Given the description of an element on the screen output the (x, y) to click on. 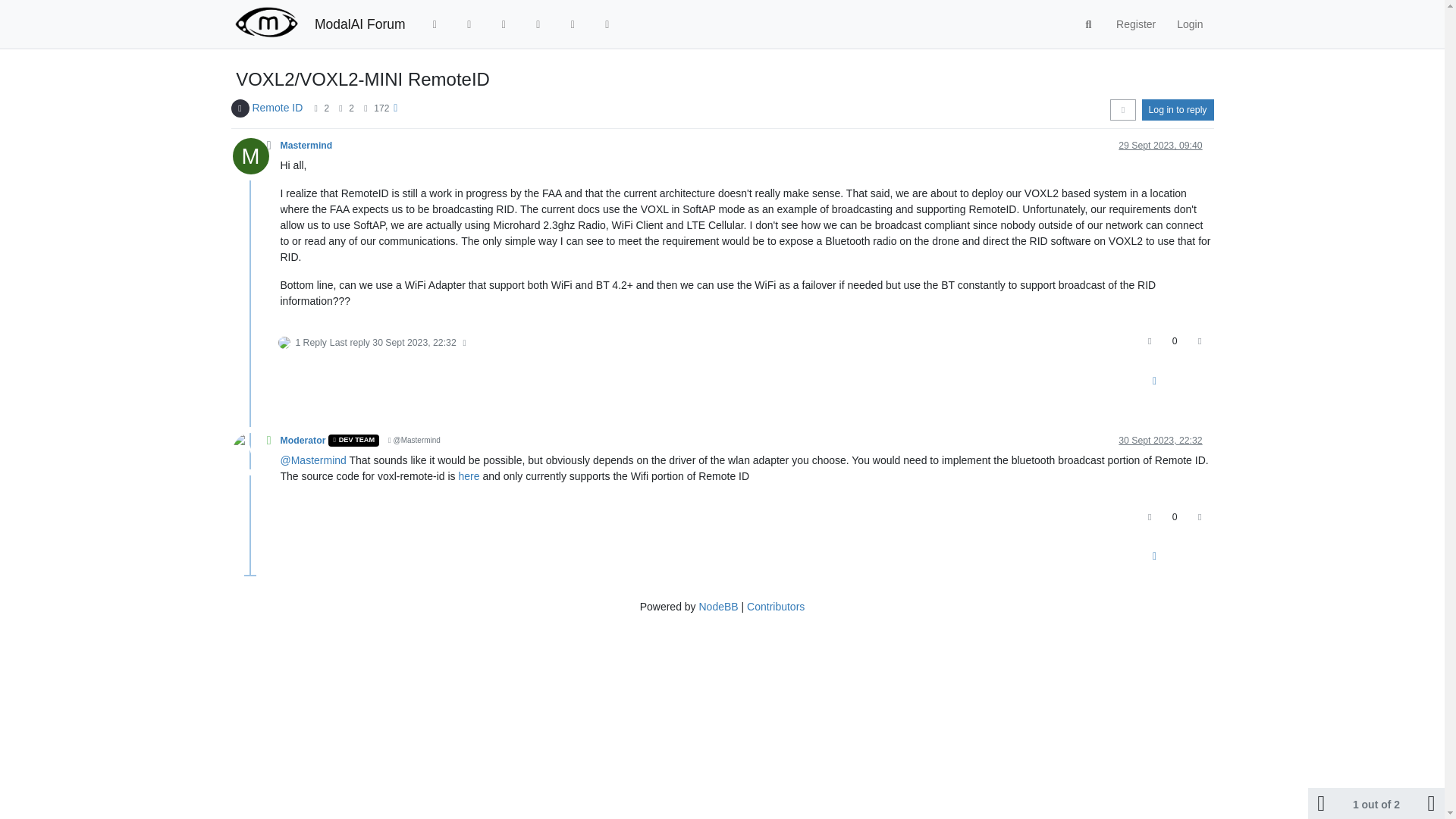
Register (1135, 24)
Tags (503, 24)
Categories (434, 24)
Remote ID (276, 107)
Users (573, 24)
Login (1189, 24)
ModalAI Forum (360, 24)
Mastermind (307, 145)
29 Sept 2023, 09:40 (1160, 145)
Groups (606, 24)
